Given the description of an element on the screen output the (x, y) to click on. 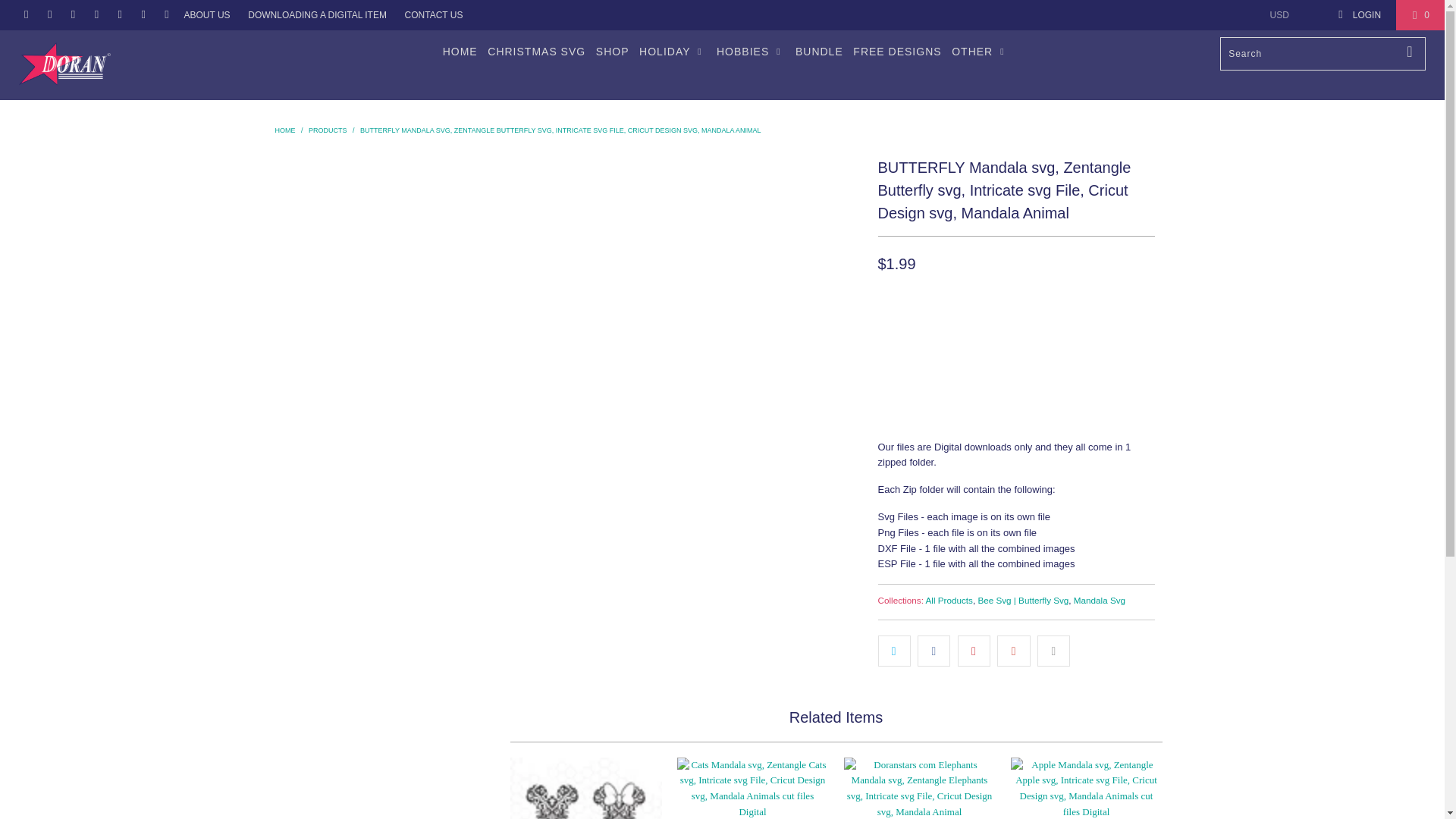
Mandala Svg (1099, 600)
DoranStars on Pinterest (94, 14)
Share this on Facebook (933, 650)
All Products (949, 600)
DoranStars on Instagram (141, 14)
Products (328, 129)
DoranStars on Twitter (25, 14)
DoranStars on YouTube (71, 14)
DoranStars (122, 64)
DoranStars (285, 129)
Share this on Twitter (894, 650)
DoranStars on Facebook (48, 14)
Email DoranStars (164, 14)
DoranStars on Tumblr (118, 14)
My Account  (1358, 15)
